Given the description of an element on the screen output the (x, y) to click on. 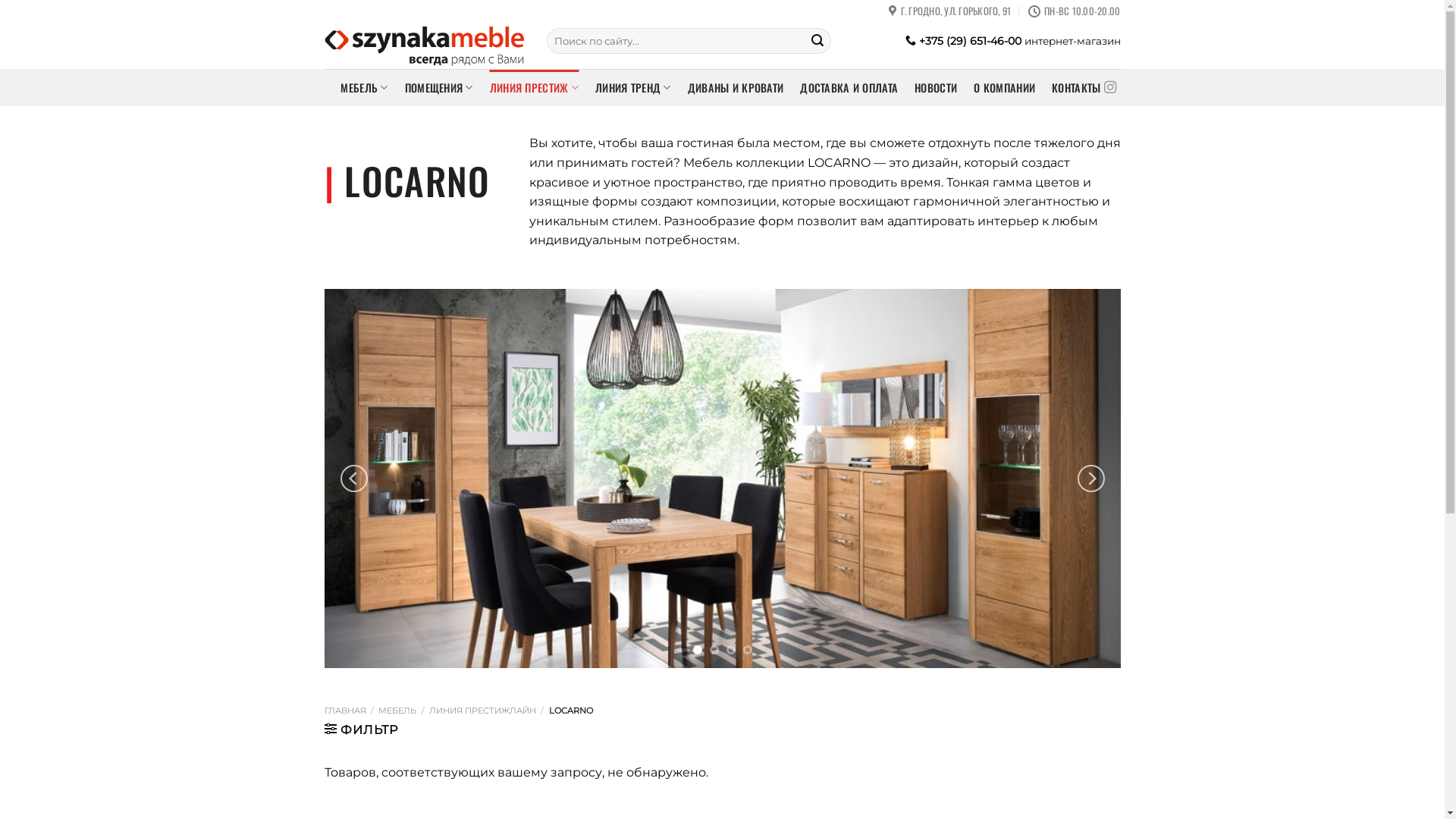
Skip to content Element type: text (0, 0)
+375 (29) 651-46-00 Element type: text (963, 40)
